Given the description of an element on the screen output the (x, y) to click on. 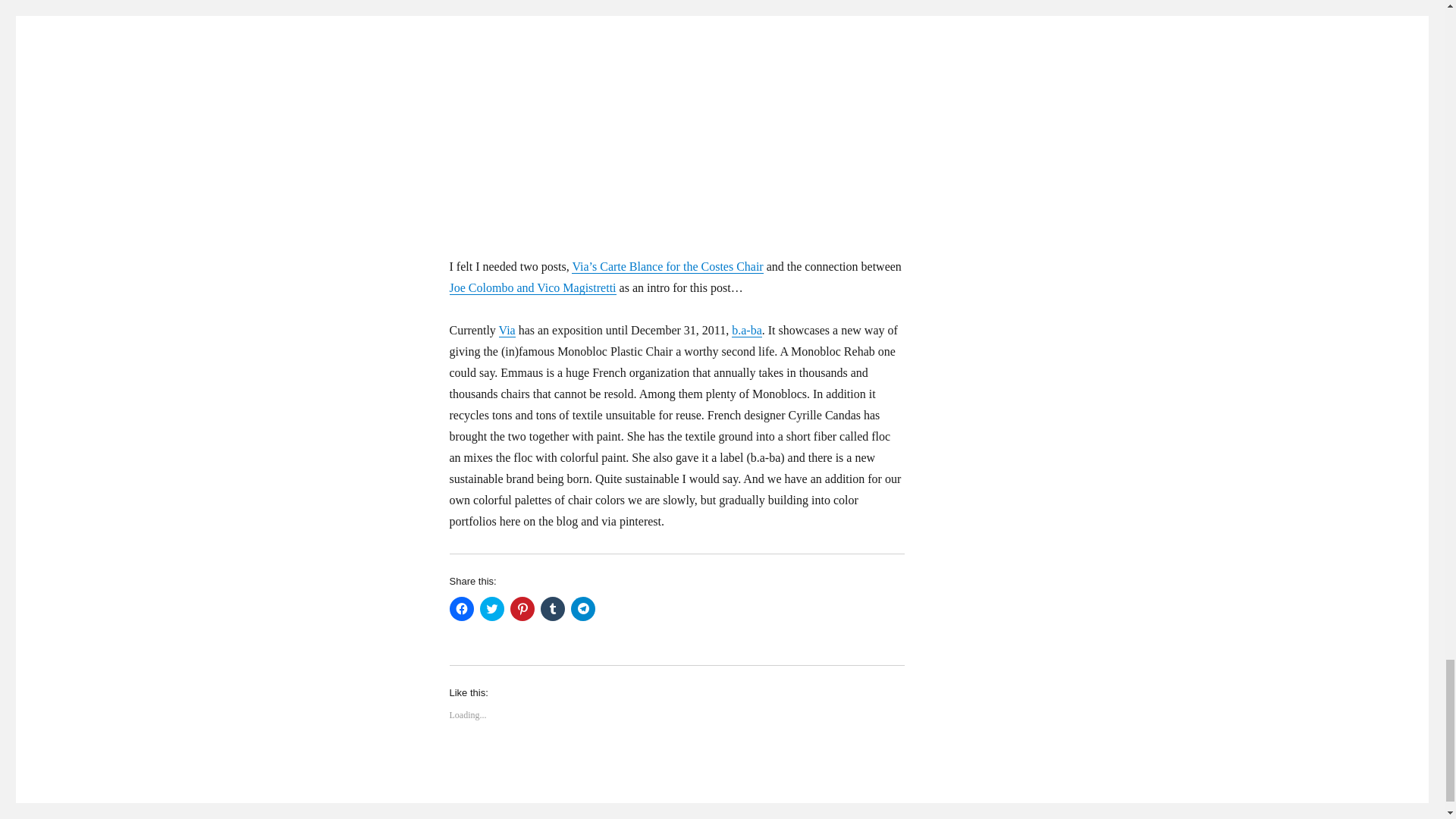
Joe Colombo and Vico Magistretti (531, 287)
Click to share on Telegram (582, 608)
b.a-ba-grey-monobloc-by-Cyrille-Candas (676, 106)
Click to share on Tumblr (552, 608)
Click to share on Facebook (460, 608)
Click to share on Pinterest (521, 608)
b.a-ba (746, 329)
Via (507, 329)
Click to share on Twitter (491, 608)
